Given the description of an element on the screen output the (x, y) to click on. 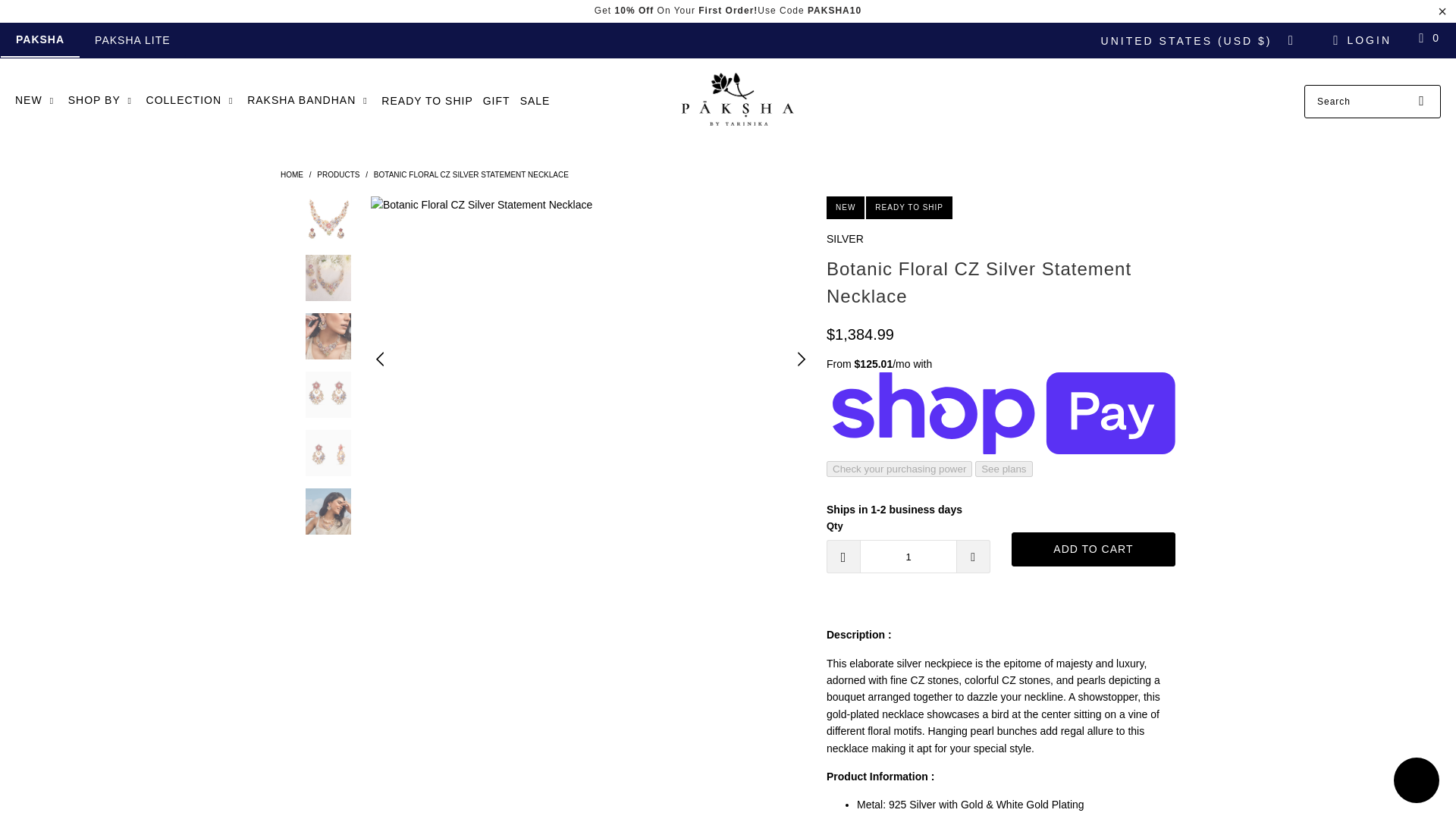
Paksha (734, 101)
My Account  (1359, 39)
Products (338, 174)
1 (908, 556)
Paksha (291, 174)
